Given the description of an element on the screen output the (x, y) to click on. 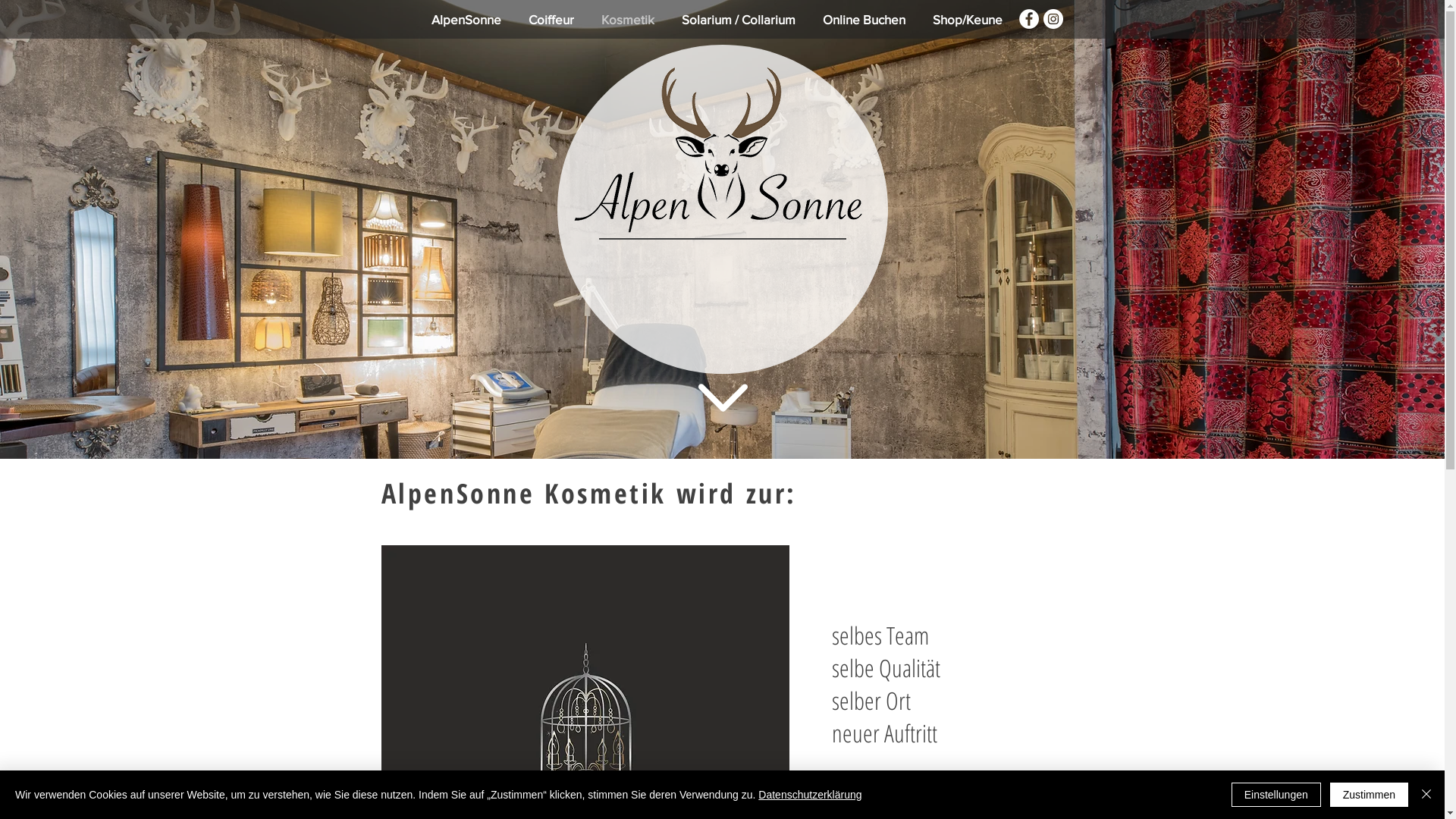
Shop/Keune Element type: text (967, 19)
AlpenSonne Element type: text (465, 19)
Coiffeur Element type: text (550, 19)
Zustimmen Element type: text (1369, 794)
Solarium / Collarium Element type: text (737, 19)
Online Buchen Element type: text (863, 19)
Einstellungen Element type: text (1276, 794)
Kosmetik Element type: text (626, 19)
